Given the description of an element on the screen output the (x, y) to click on. 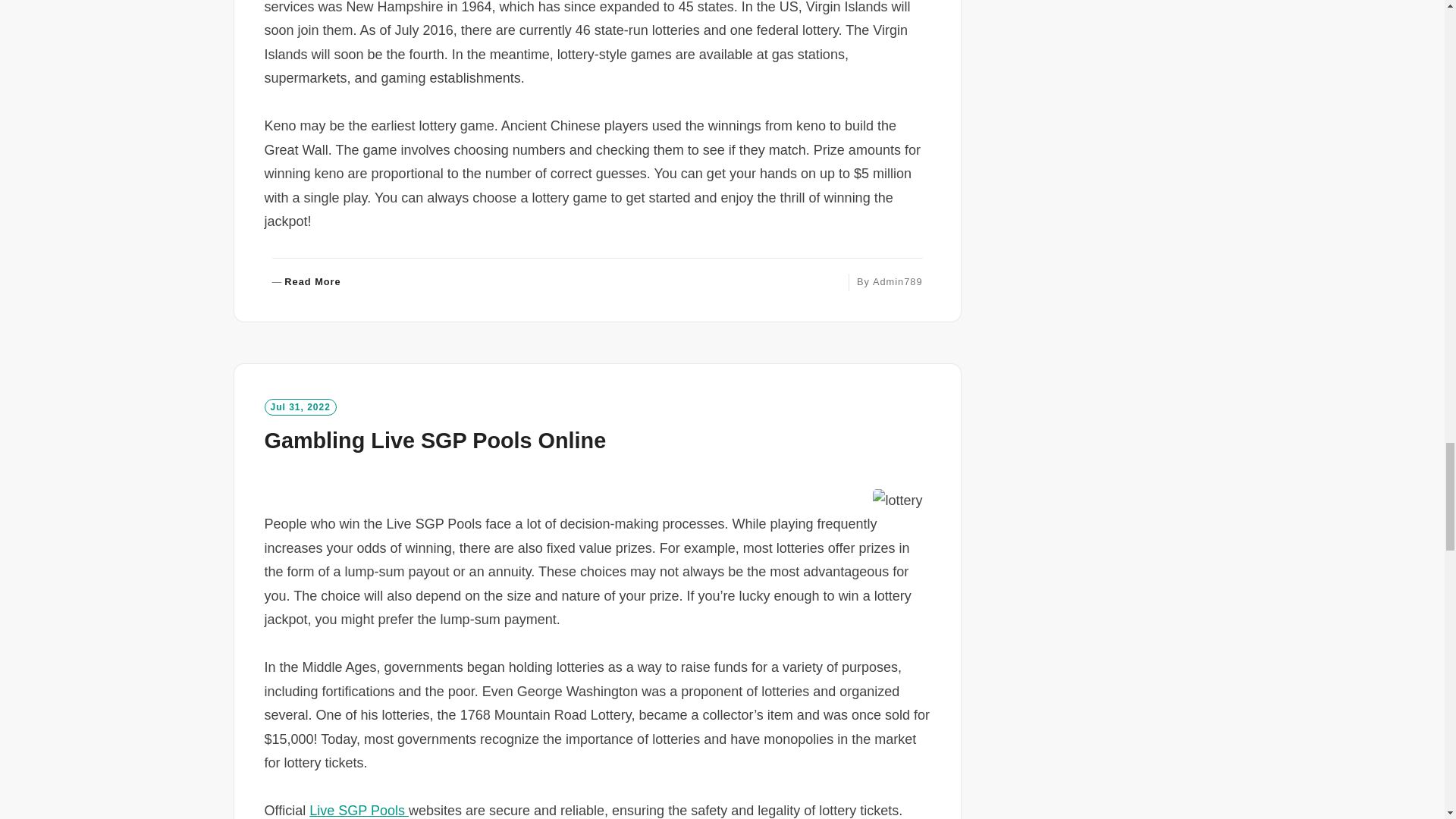
Gambling Live SGP Pools Online (434, 440)
Admin789 (897, 281)
Jul 31, 2022 (299, 406)
Live SGP Pools (358, 810)
